Given the description of an element on the screen output the (x, y) to click on. 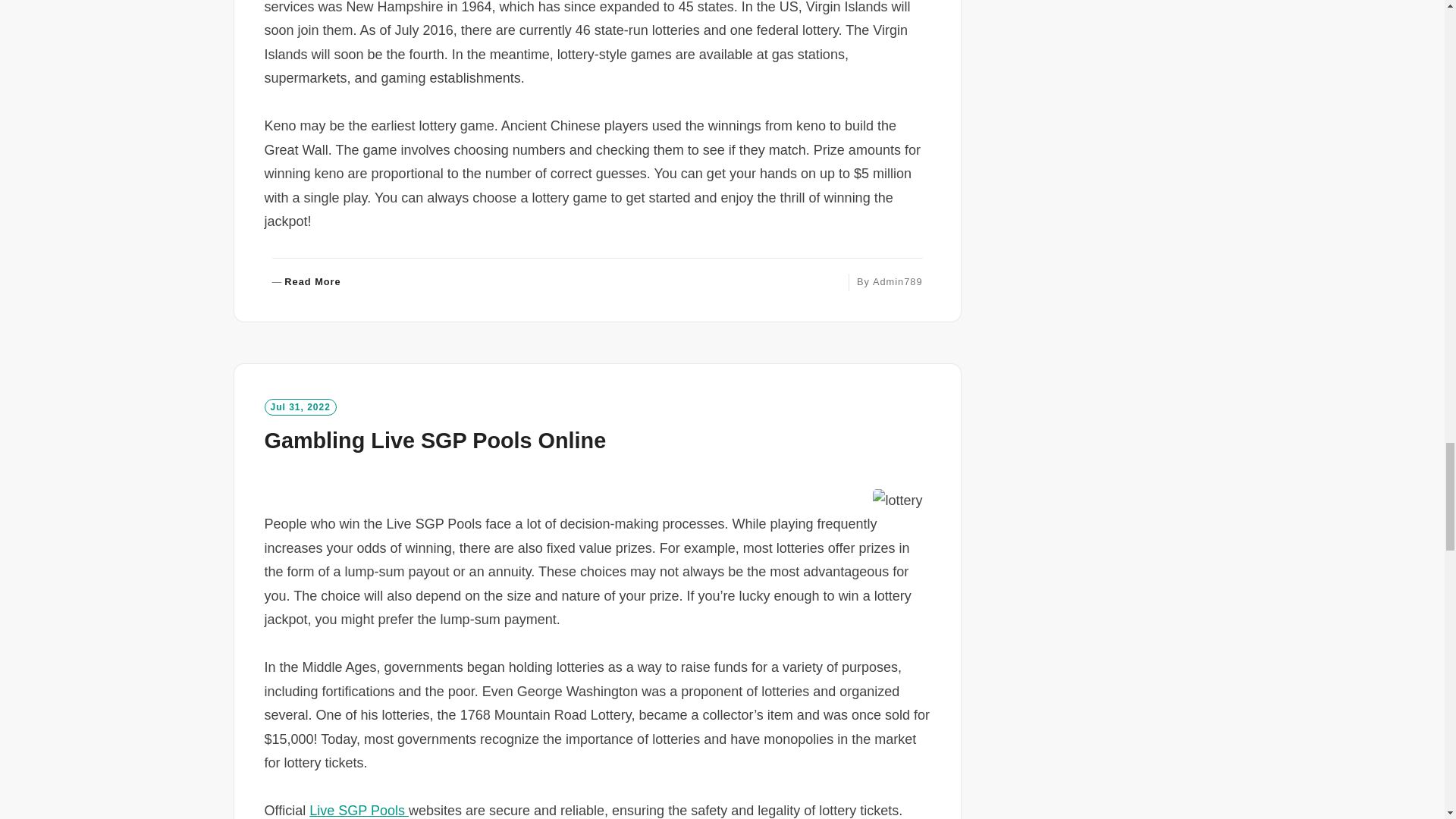
Gambling Live SGP Pools Online (434, 440)
Admin789 (897, 281)
Jul 31, 2022 (299, 406)
Live SGP Pools (358, 810)
